Given the description of an element on the screen output the (x, y) to click on. 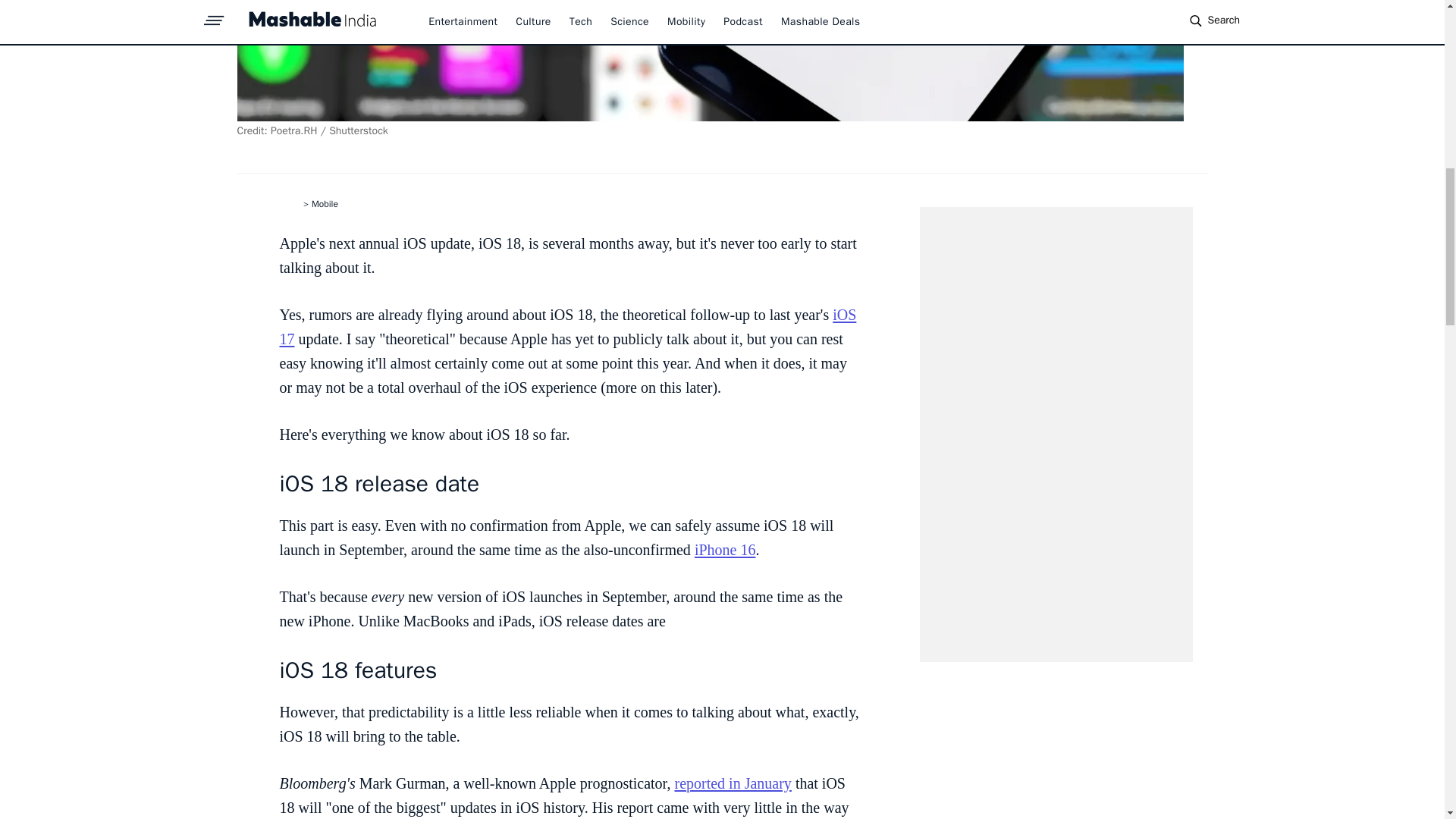
iOS 17 (567, 326)
iPhone 16 (724, 549)
reported in January (732, 782)
